Given the description of an element on the screen output the (x, y) to click on. 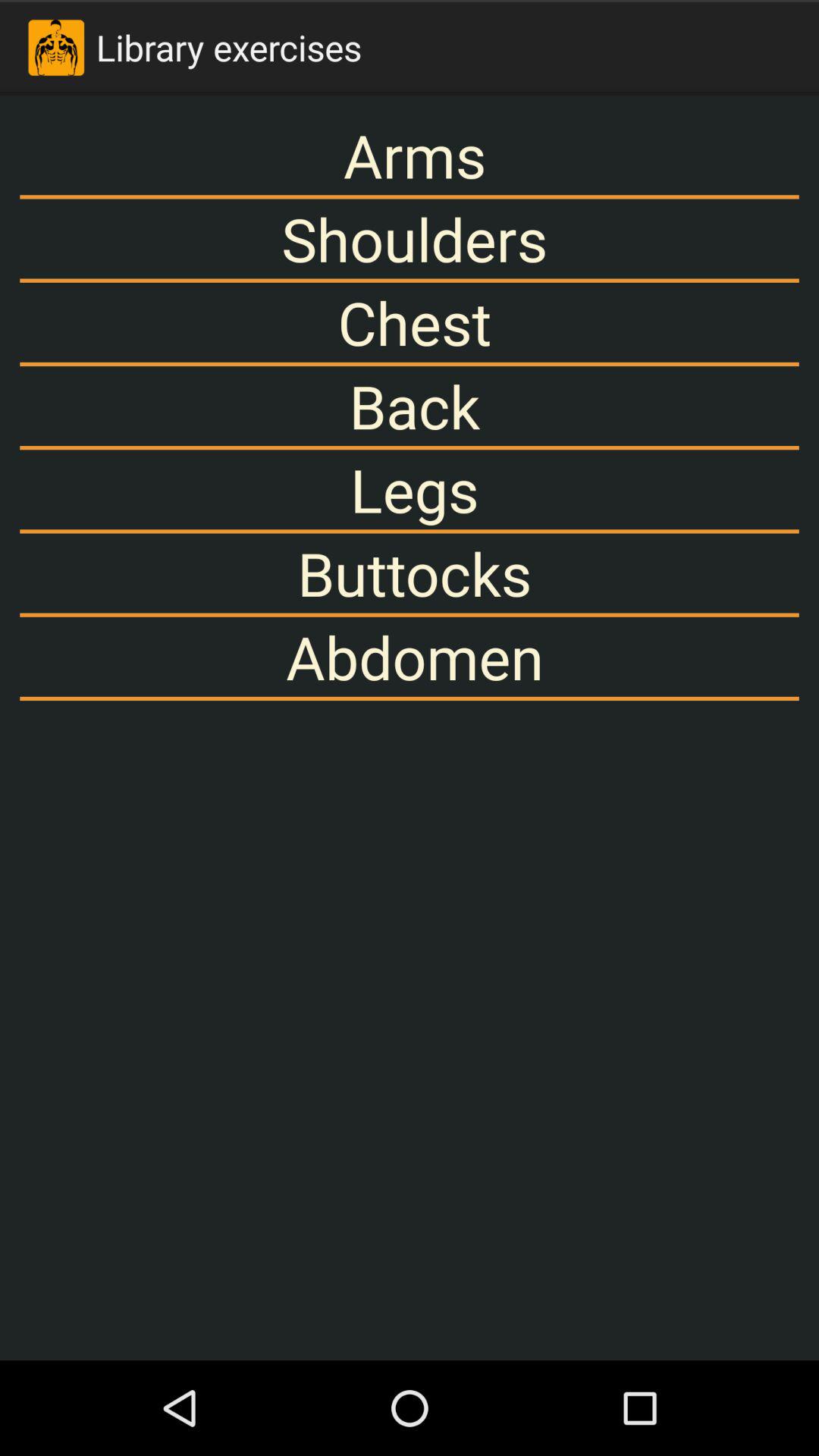
swipe until the shoulders app (409, 238)
